Given the description of an element on the screen output the (x, y) to click on. 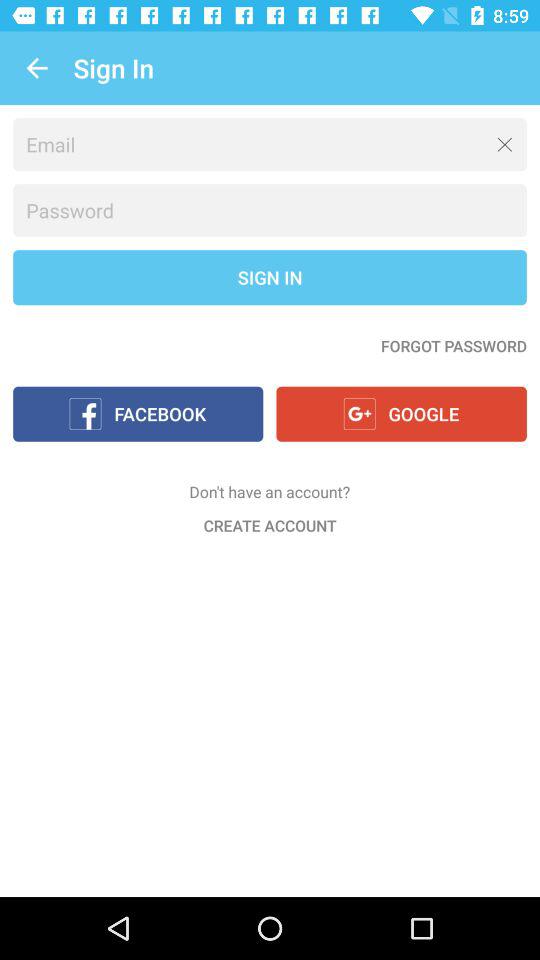
choose the create account item (269, 525)
